Given the description of an element on the screen output the (x, y) to click on. 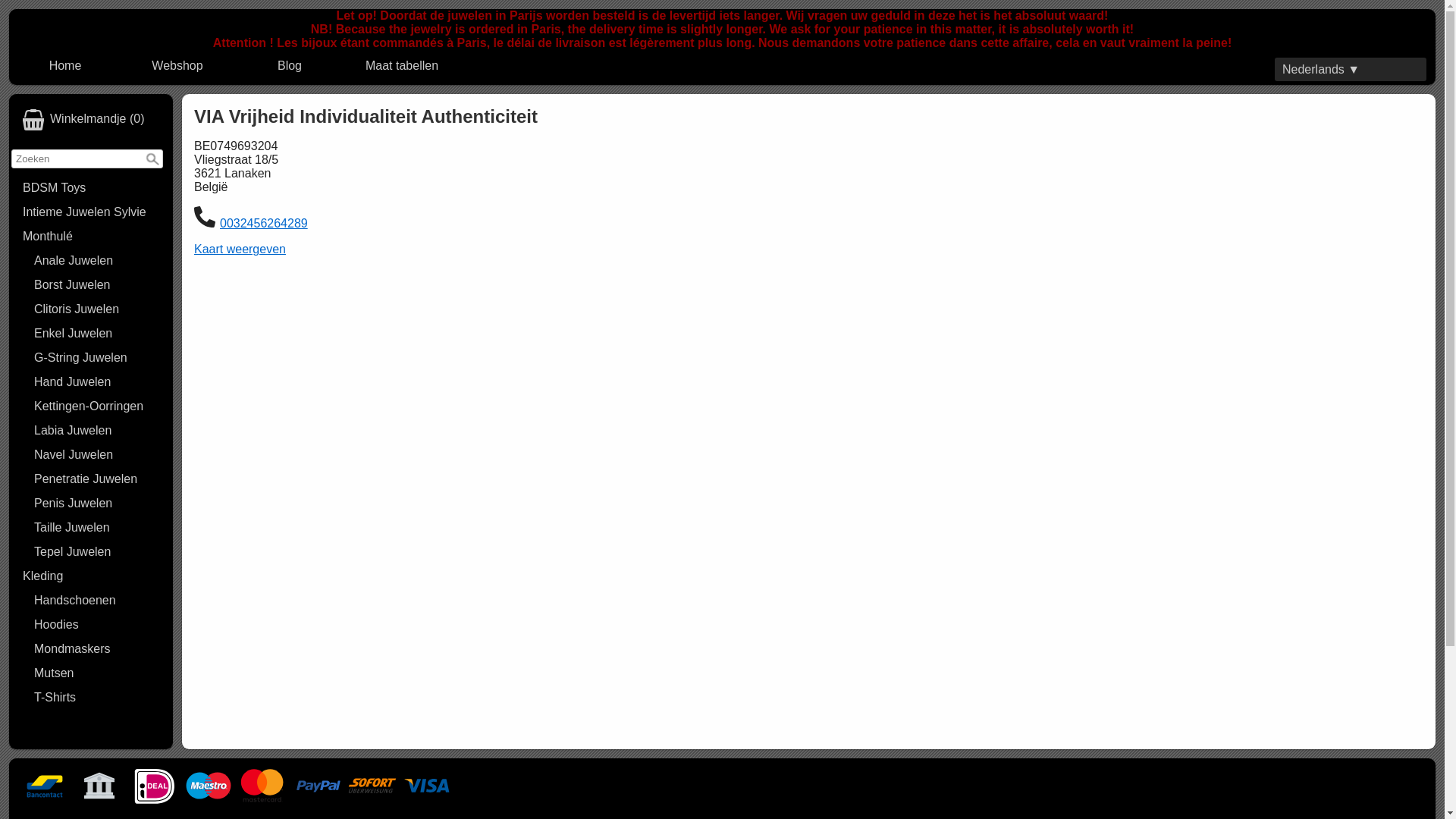
Anale Juwelen Element type: text (96, 260)
0032456264289 Element type: text (263, 222)
Kettingen-Oorringen Element type: text (96, 406)
Mutsen Element type: text (96, 673)
Blog Element type: text (289, 65)
T-Shirts Element type: text (96, 697)
Mondmaskers Element type: text (96, 649)
Kleding Element type: text (90, 576)
Navel Juwelen Element type: text (96, 454)
Tepel Juwelen Element type: text (96, 551)
Webshop Element type: text (177, 65)
Home Element type: text (64, 65)
Penetratie Juwelen Element type: text (96, 479)
Kaart weergeven Element type: text (239, 248)
Labia Juwelen Element type: text (96, 430)
BDSM Toys Element type: text (90, 187)
Hoodies Element type: text (96, 624)
Clitoris Juwelen Element type: text (96, 309)
Penis Juwelen Element type: text (96, 503)
G-String Juwelen Element type: text (96, 357)
WinkelmandjeWinkelmandje (0) Element type: text (90, 119)
Taille Juwelen Element type: text (96, 527)
Maat tabellen Element type: text (401, 65)
Handschoenen Element type: text (96, 600)
Enkel Juwelen Element type: text (96, 333)
Borst Juwelen Element type: text (96, 285)
Hand Juwelen Element type: text (96, 382)
